Given the description of an element on the screen output the (x, y) to click on. 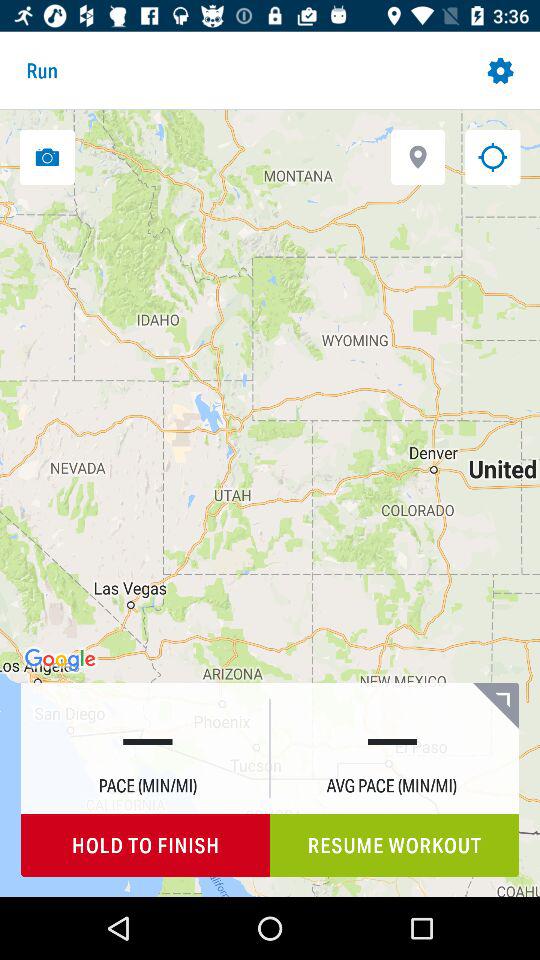
scroll to resume workout item (394, 845)
